Given the description of an element on the screen output the (x, y) to click on. 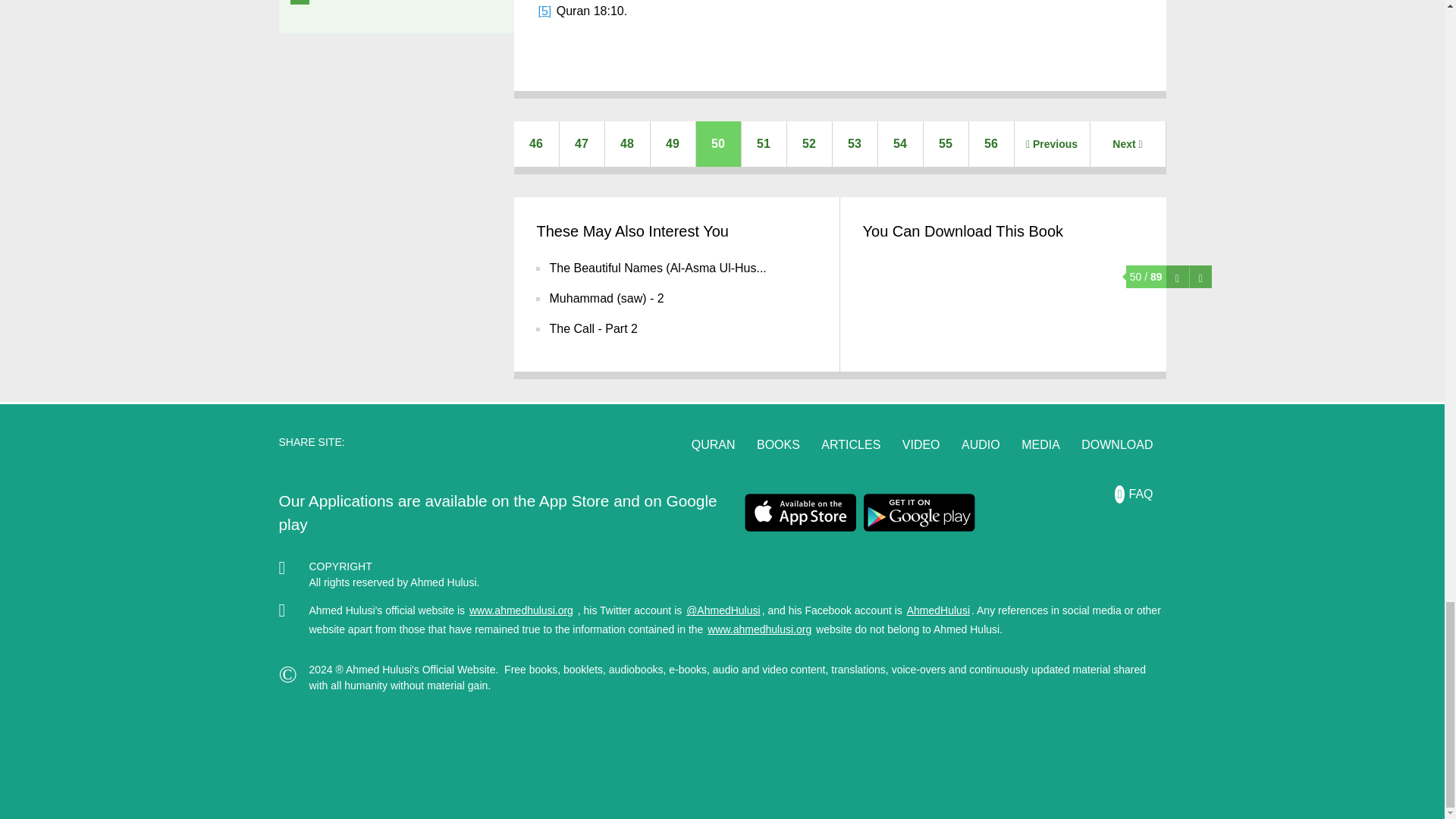
The Power of Prayer - Example Prayers From The Quran (582, 144)
